Given the description of an element on the screen output the (x, y) to click on. 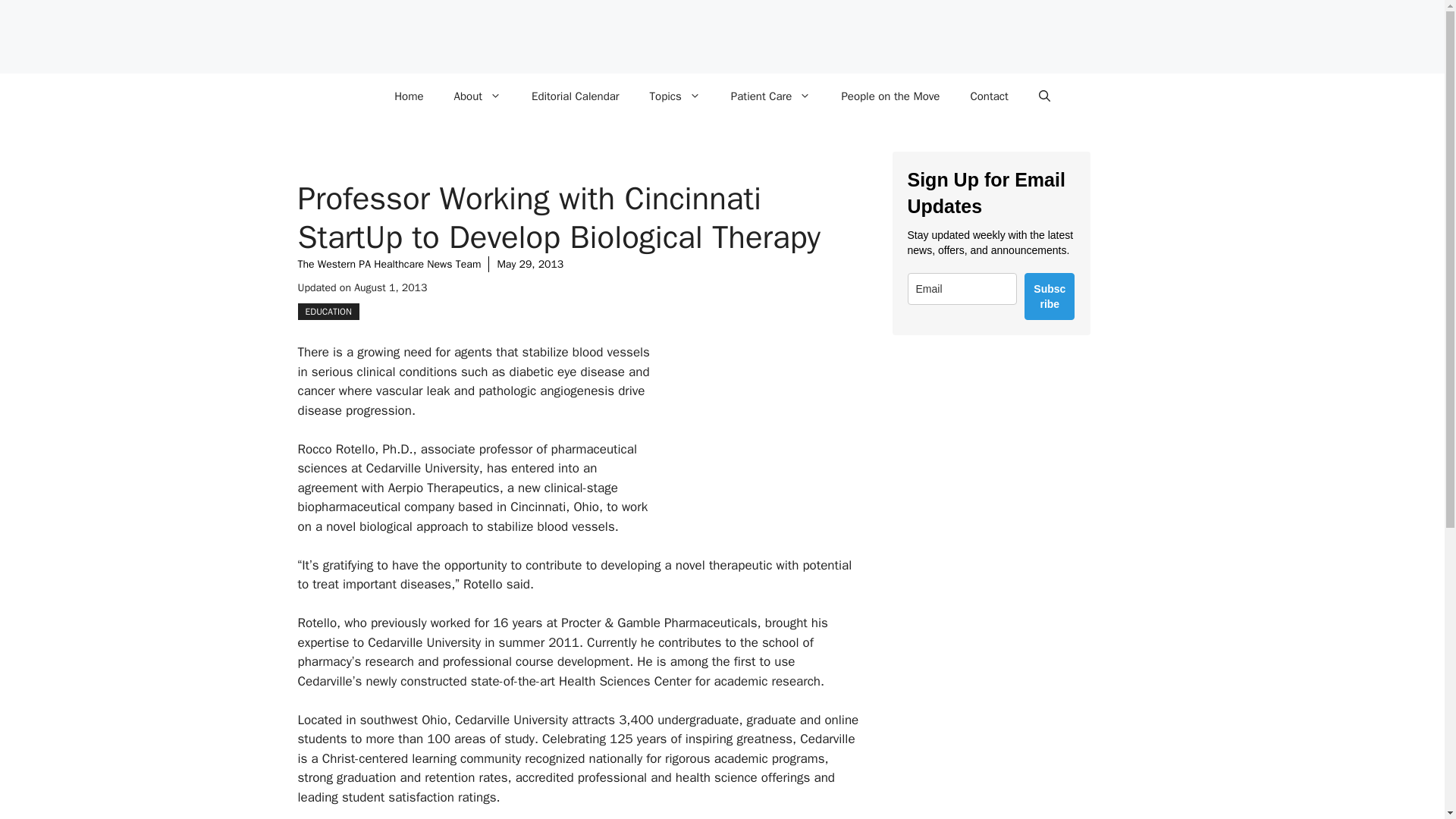
Contact (989, 95)
People on the Move (890, 95)
Topics (675, 95)
EDUCATION (327, 311)
Home (408, 95)
The Western PA Healthcare News Team (388, 264)
Editorial Calendar (575, 95)
Patient Care (771, 95)
About (477, 95)
